Given the description of an element on the screen output the (x, y) to click on. 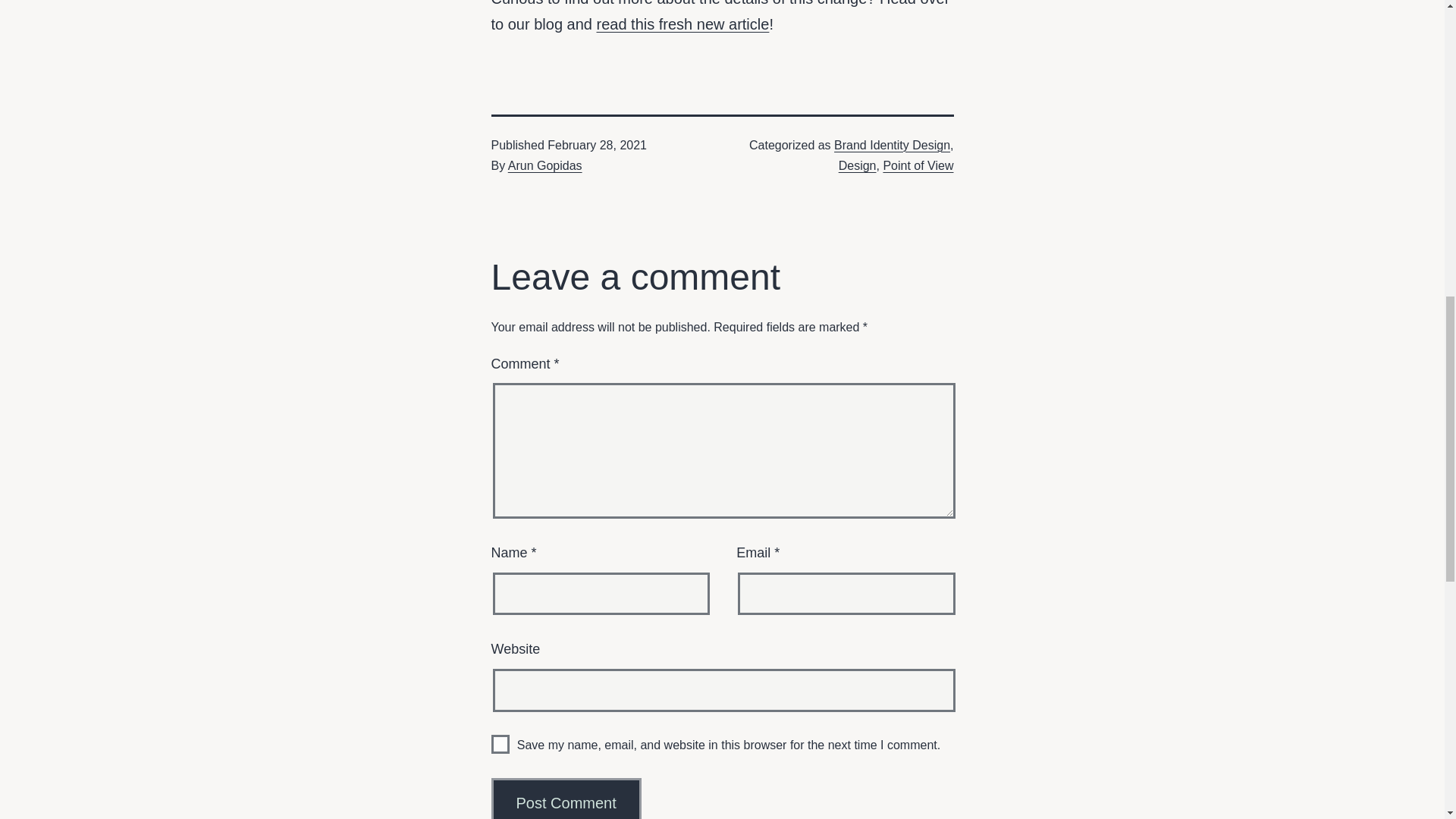
Post Comment (567, 798)
read this fresh new article (681, 23)
Design (857, 164)
Brand Identity Design (892, 144)
Arun Gopidas (545, 164)
yes (500, 743)
Point of View (917, 164)
Post Comment (567, 798)
